Given the description of an element on the screen output the (x, y) to click on. 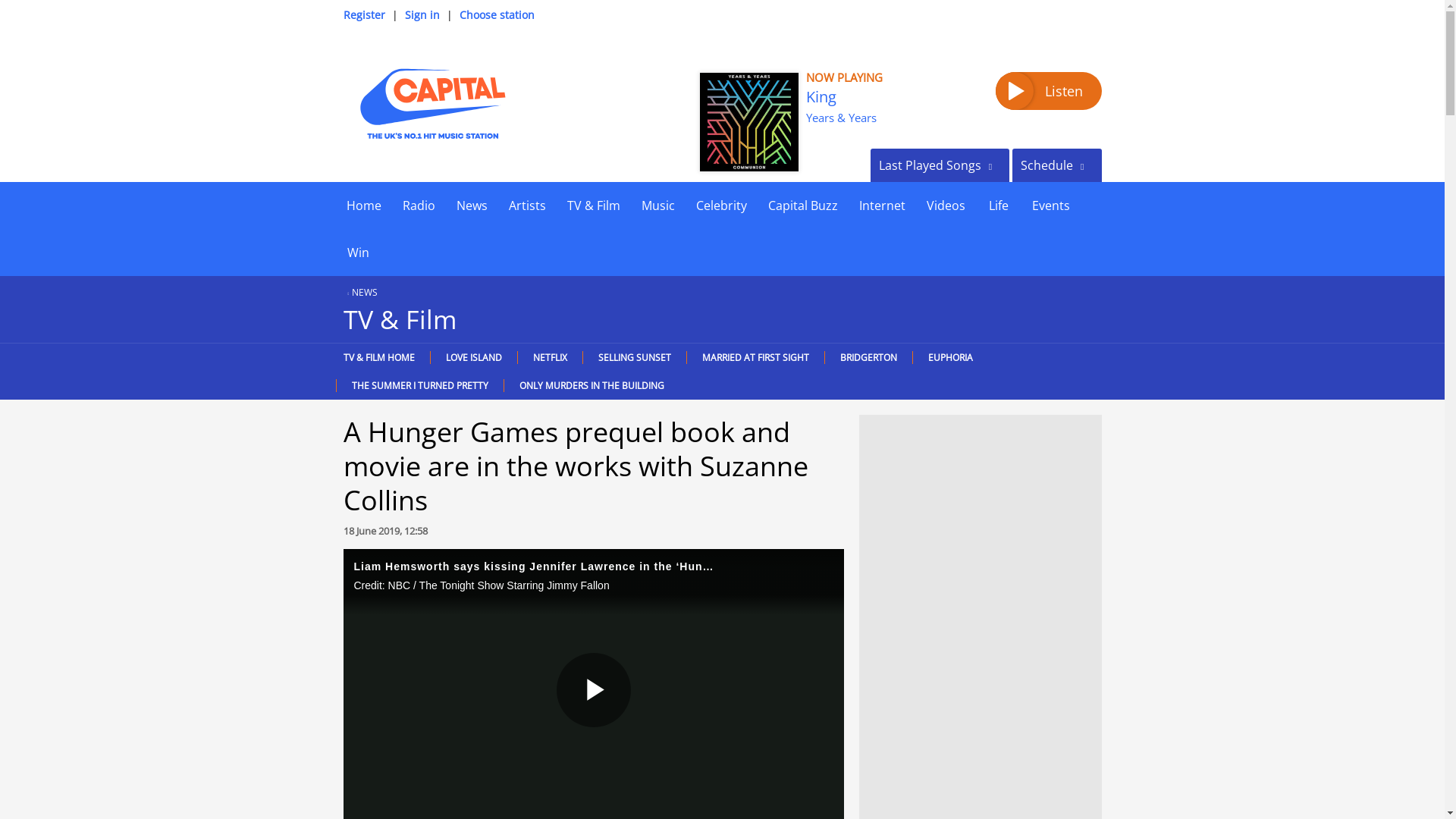
Celebrity (721, 205)
NETFLIX (549, 357)
Radio (418, 205)
Capital Buzz (802, 205)
BRIDGERTON (867, 357)
King (820, 96)
SELLING SUNSET (633, 357)
Choose station (497, 14)
Listen (1047, 90)
